Given the description of an element on the screen output the (x, y) to click on. 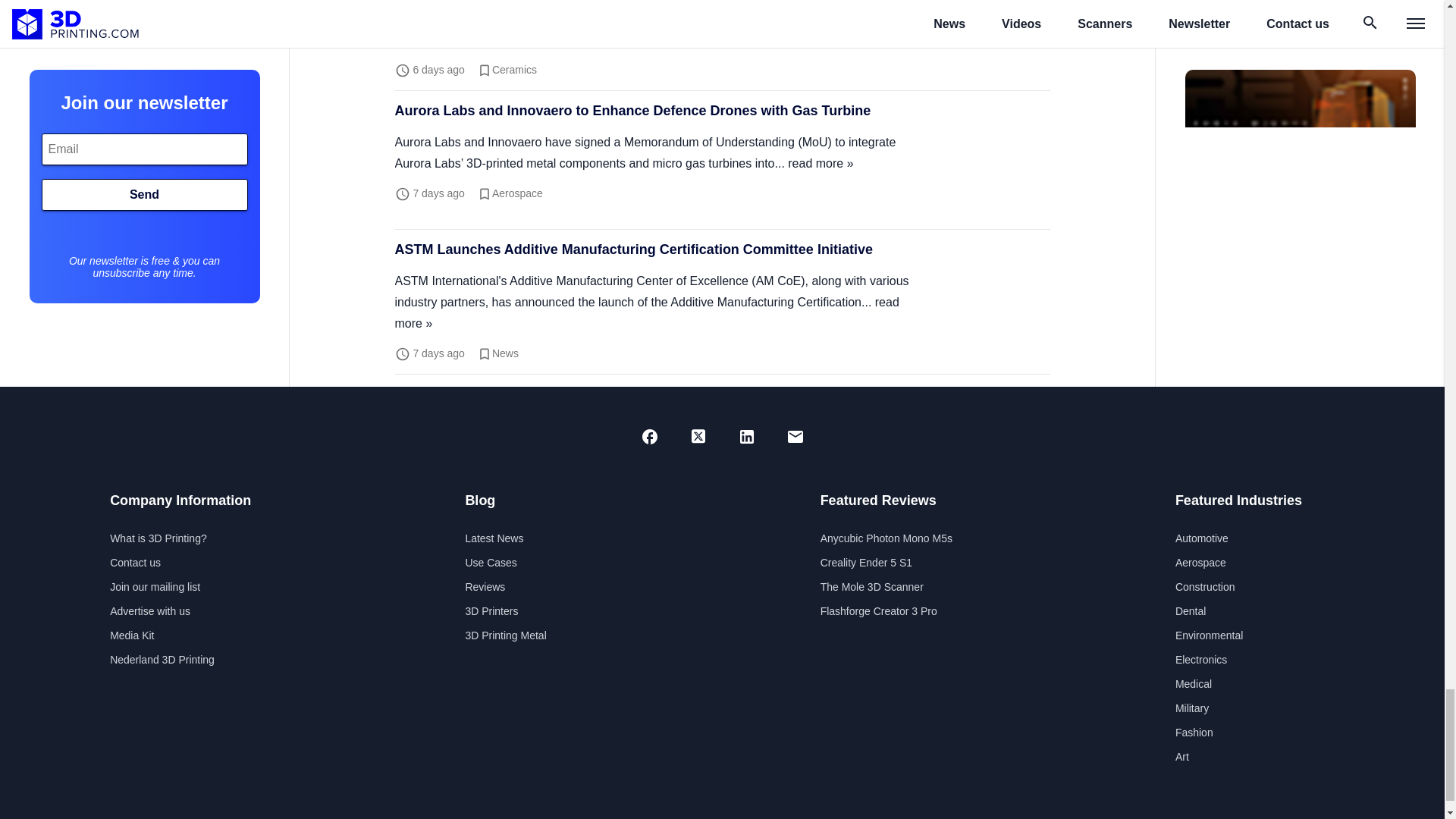
1723017650 (438, 352)
1723024739 (438, 192)
1723111420 (438, 69)
